Given the description of an element on the screen output the (x, y) to click on. 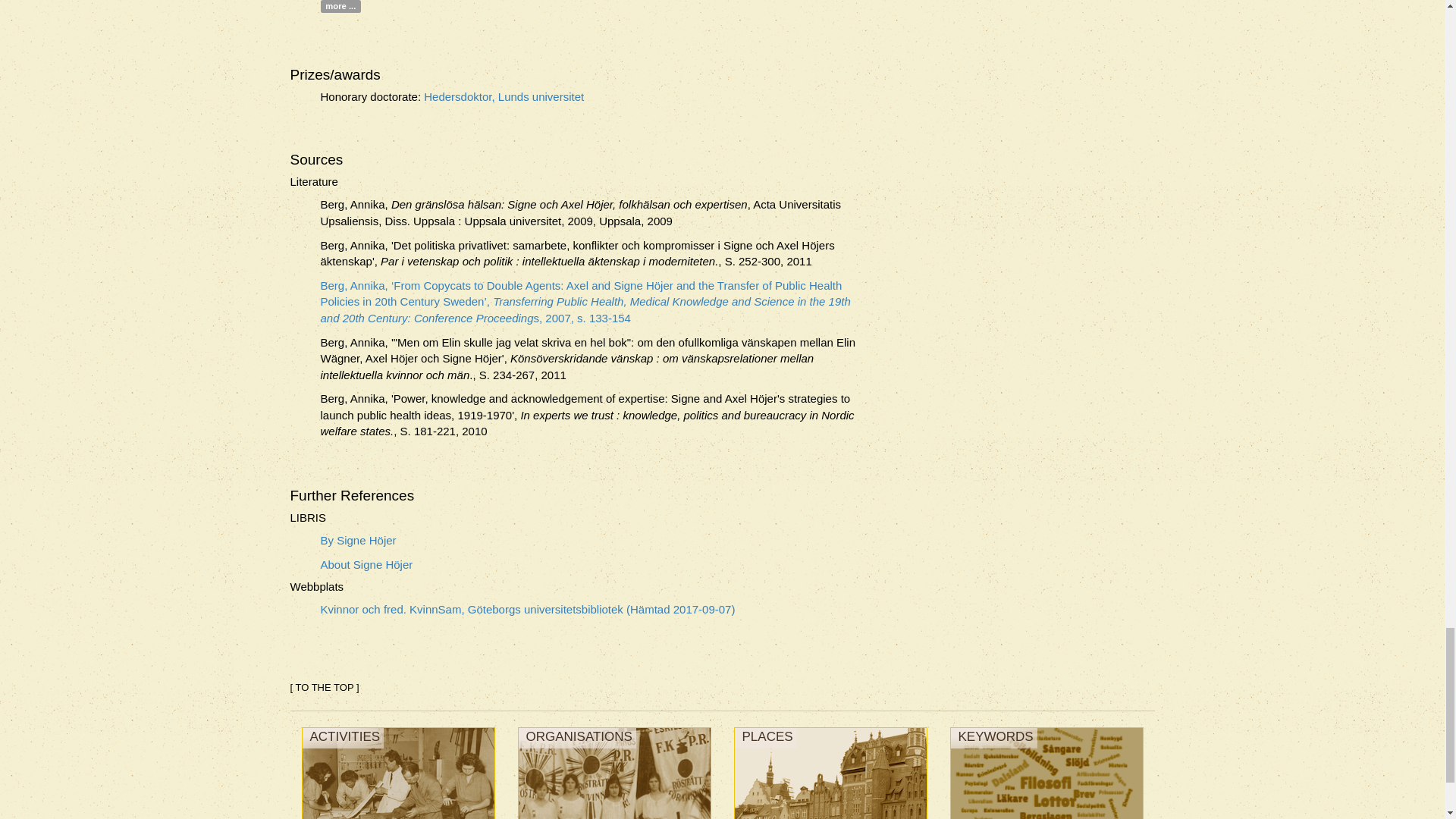
Hedersdoktor, Lunds universitet (503, 96)
